Given the description of an element on the screen output the (x, y) to click on. 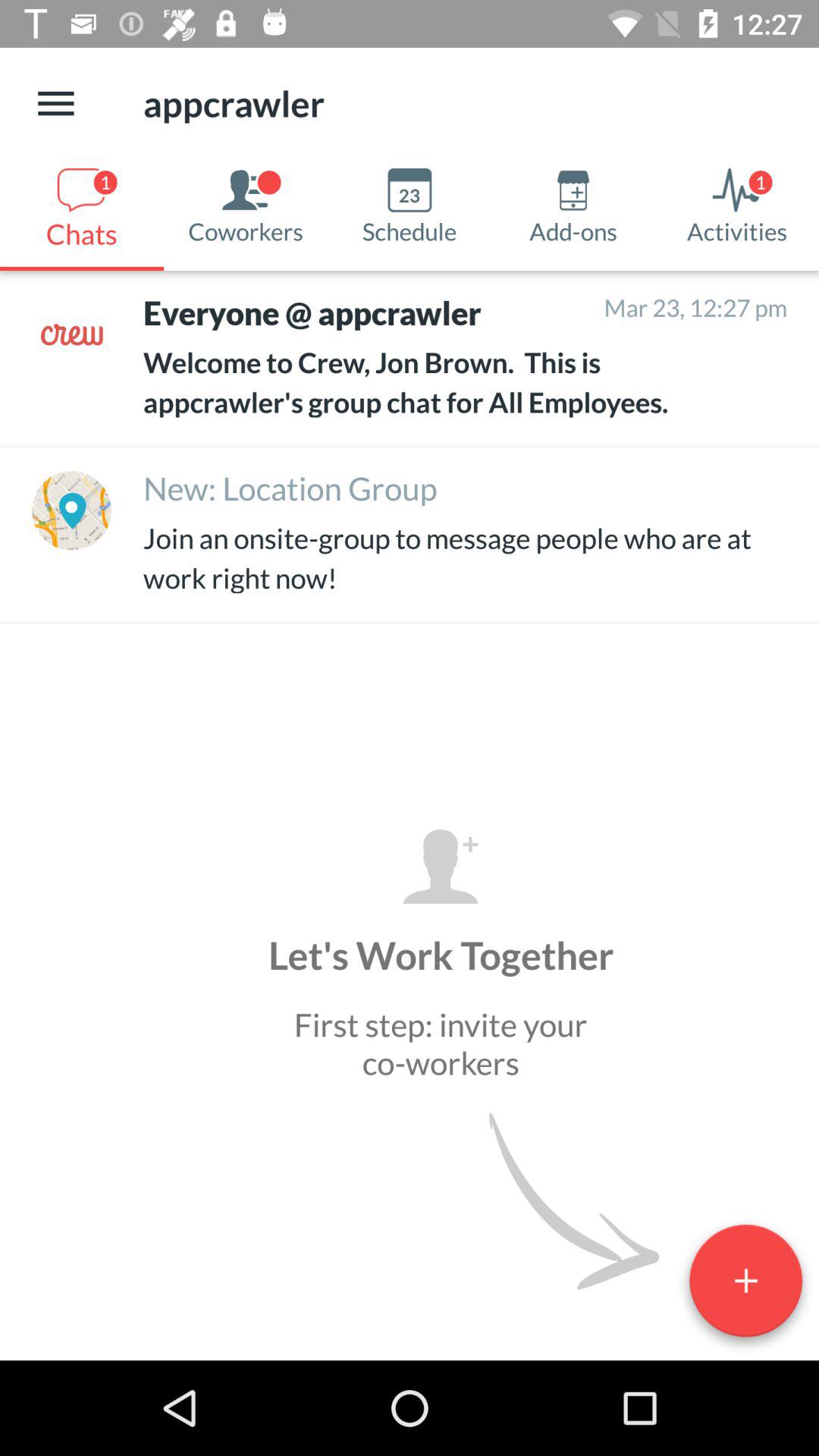
press the icon to the left of appcrawler icon (55, 103)
